Given the description of an element on the screen output the (x, y) to click on. 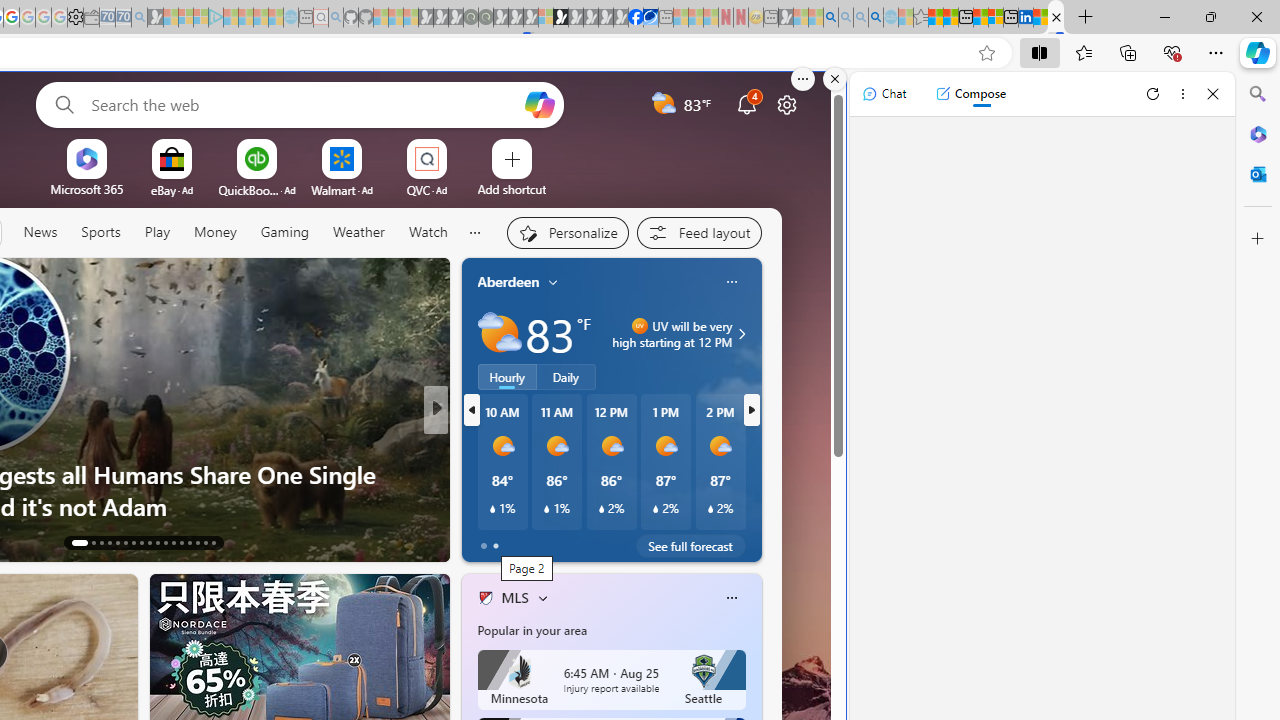
Favorites - Sleeping (920, 17)
Weather (358, 233)
AutomationID: tab-28 (204, 542)
View comments 15 Comment (574, 541)
TechRadar (477, 442)
MSN - Sleeping (786, 17)
AutomationID: tab-36 (212, 542)
Add a site (511, 188)
